Given the description of an element on the screen output the (x, y) to click on. 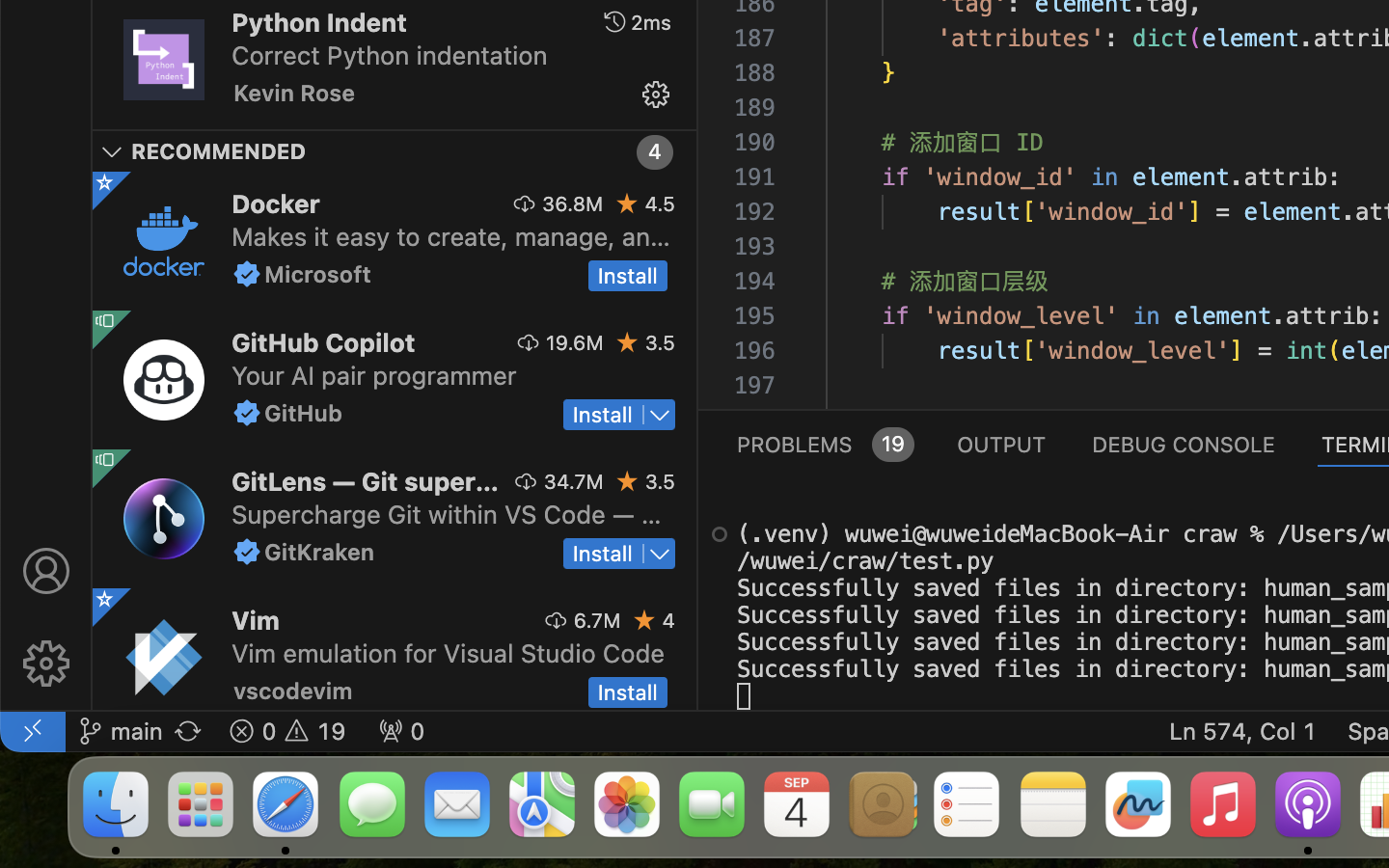
GitLens — Git supercharged Element type: AXStaticText (365, 480)
GitHub Copilot Element type: AXStaticText (323, 341)
Your AI pair programmer Element type: AXStaticText (374, 374)
Vim Element type: AXStaticText (255, 619)
3.5 Element type: AXStaticText (659, 341)
